Given the description of an element on the screen output the (x, y) to click on. 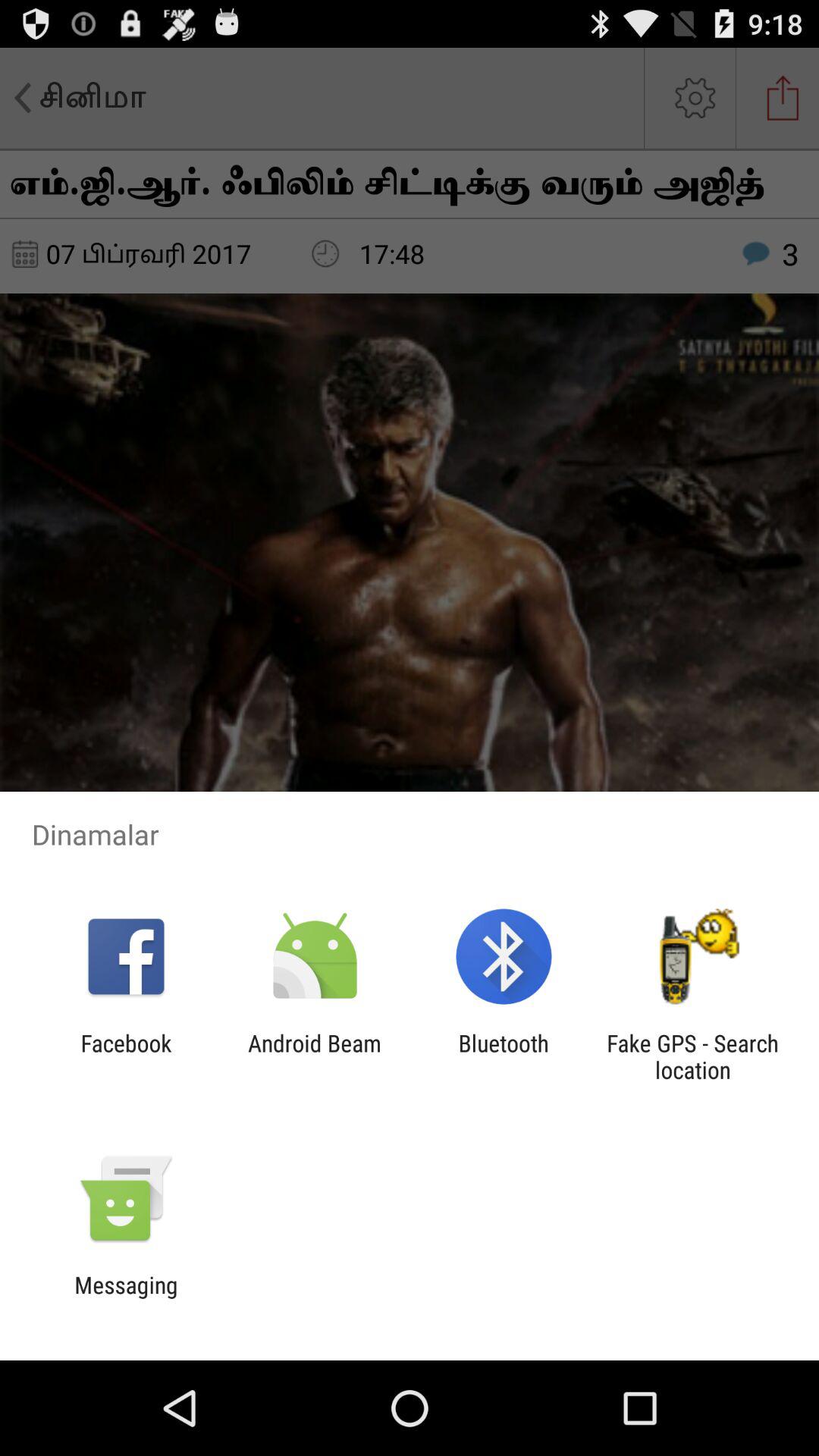
launch the icon at the bottom right corner (692, 1056)
